Given the description of an element on the screen output the (x, y) to click on. 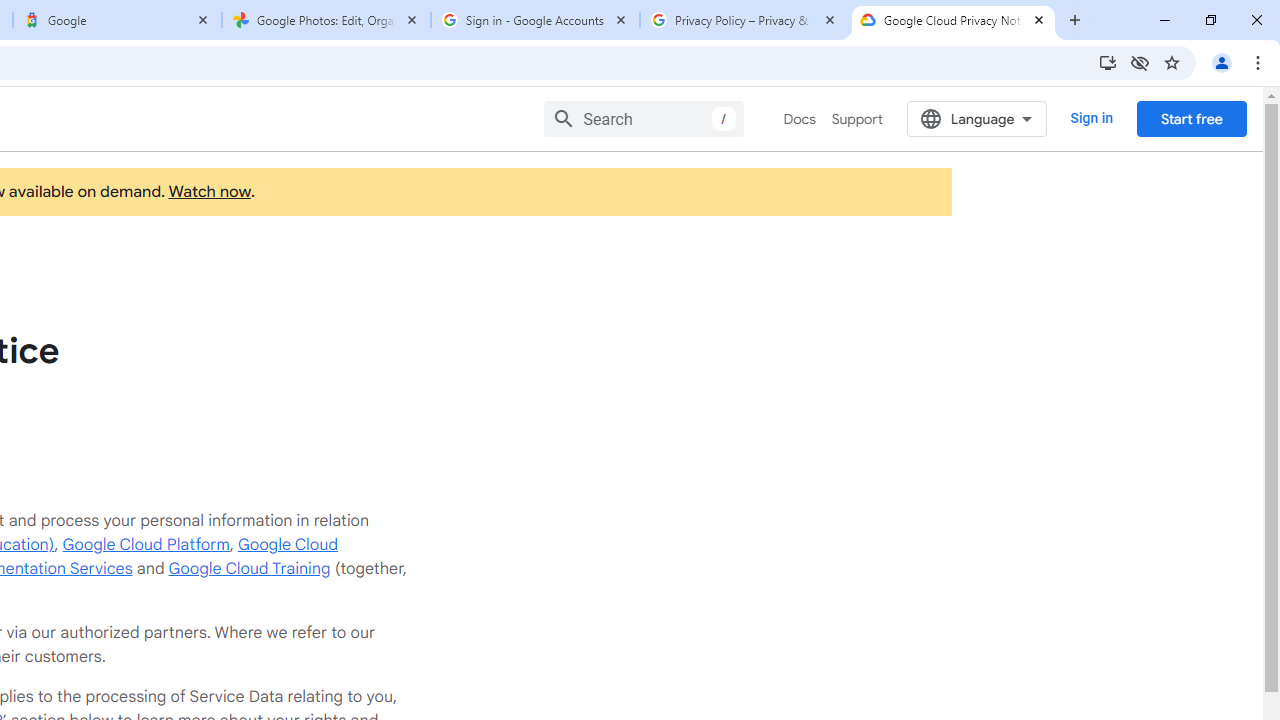
Install Google Cloud (1107, 62)
Google Cloud Platform (145, 544)
Language (976, 118)
Support (856, 119)
Sign in - Google Accounts (535, 20)
Google Cloud Privacy Notice (953, 20)
Google (116, 20)
Watch now (208, 192)
